Given the description of an element on the screen output the (x, y) to click on. 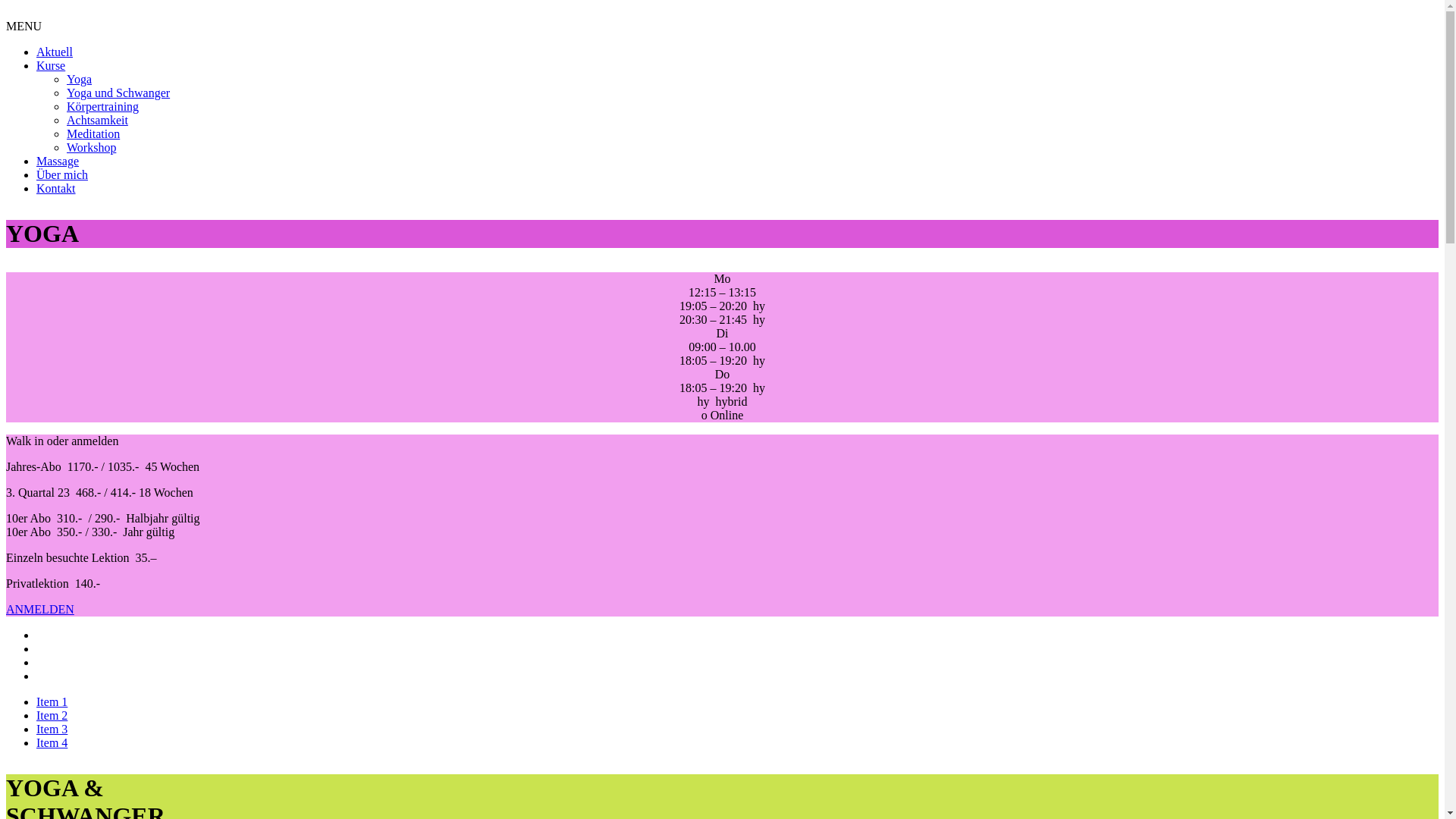
Kontakt Element type: text (55, 188)
ANMELDEN Element type: text (40, 608)
Massage Element type: text (57, 160)
Achtsamkeit Element type: text (97, 119)
Item 2 Element type: text (51, 715)
Kurse Element type: text (50, 65)
Yoga und Schwanger Element type: text (117, 92)
Aktuell Element type: text (54, 51)
Yoga Element type: text (78, 78)
Meditation Element type: text (92, 133)
Item 3 Element type: text (51, 728)
Workshop Element type: text (91, 147)
Item 1 Element type: text (51, 701)
Item 4 Element type: text (51, 742)
